Given the description of an element on the screen output the (x, y) to click on. 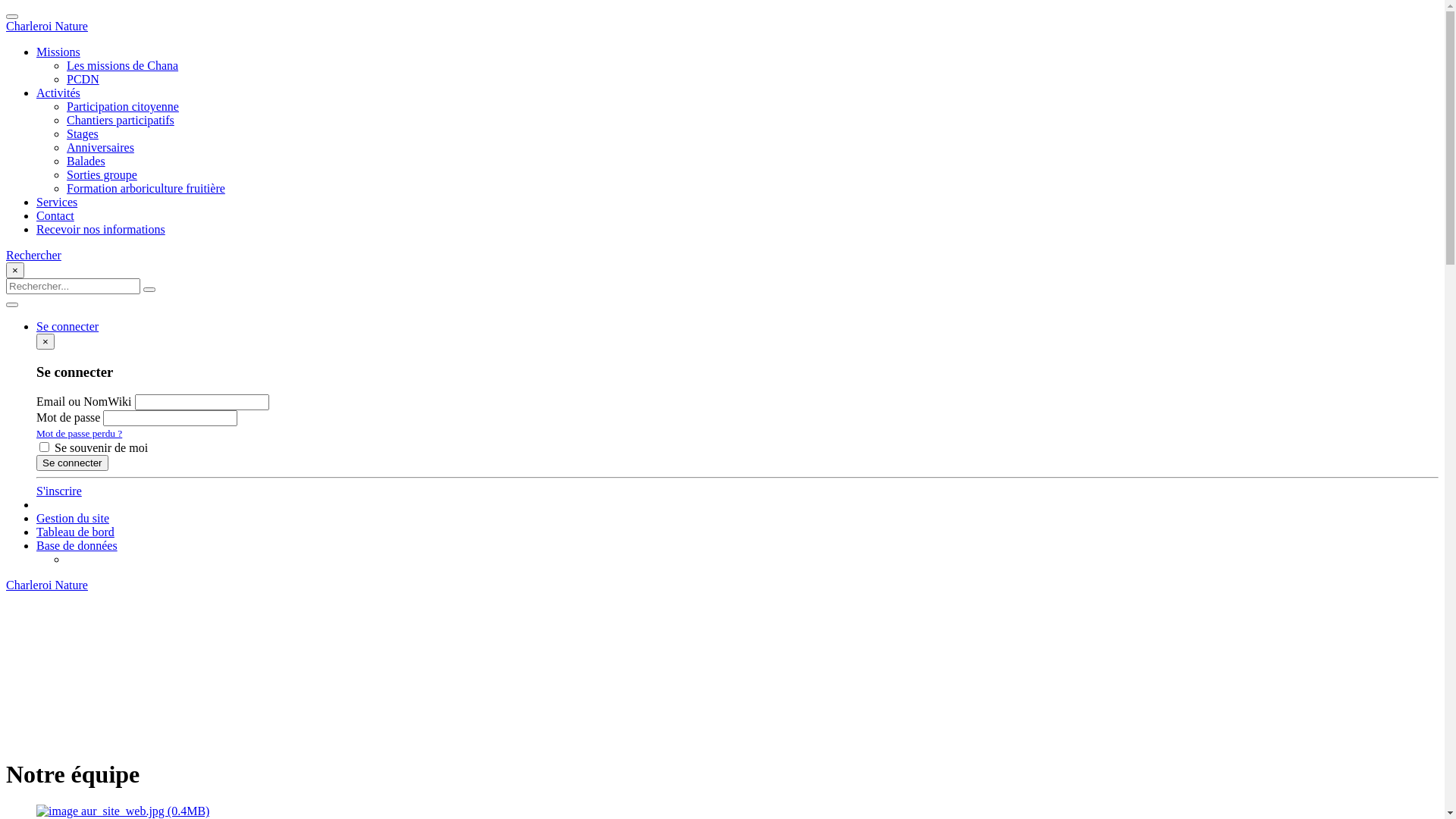
Recevoir nos informations Element type: text (100, 228)
Anniversaires Element type: text (100, 147)
Balades Element type: text (85, 160)
Rechercher Element type: text (33, 254)
Services Element type: text (56, 201)
Charleroi Nature Element type: text (722, 26)
Tableau de bord Element type: text (75, 531)
Chantiers participatifs Element type: text (120, 119)
Participation citoyenne Element type: text (122, 106)
S'inscrire Element type: text (58, 490)
Stages Element type: text (82, 133)
Se connecter Element type: text (72, 462)
Rechercher les pages comportant ce texte. Element type: hover (149, 289)
Gestion du site Element type: text (72, 517)
Se connecter Element type: text (67, 326)
Rechercher dans YesWiki [alt-shift-C] Element type: hover (73, 286)
Les missions de Chana Element type: text (122, 65)
Charleroi Nature Element type: text (722, 585)
Mot de passe perdu ? Element type: text (79, 433)
Contact Element type: text (55, 215)
Sorties groupe Element type: text (101, 174)
PCDN Element type: text (82, 78)
Missions Element type: text (58, 51)
